Given the description of an element on the screen output the (x, y) to click on. 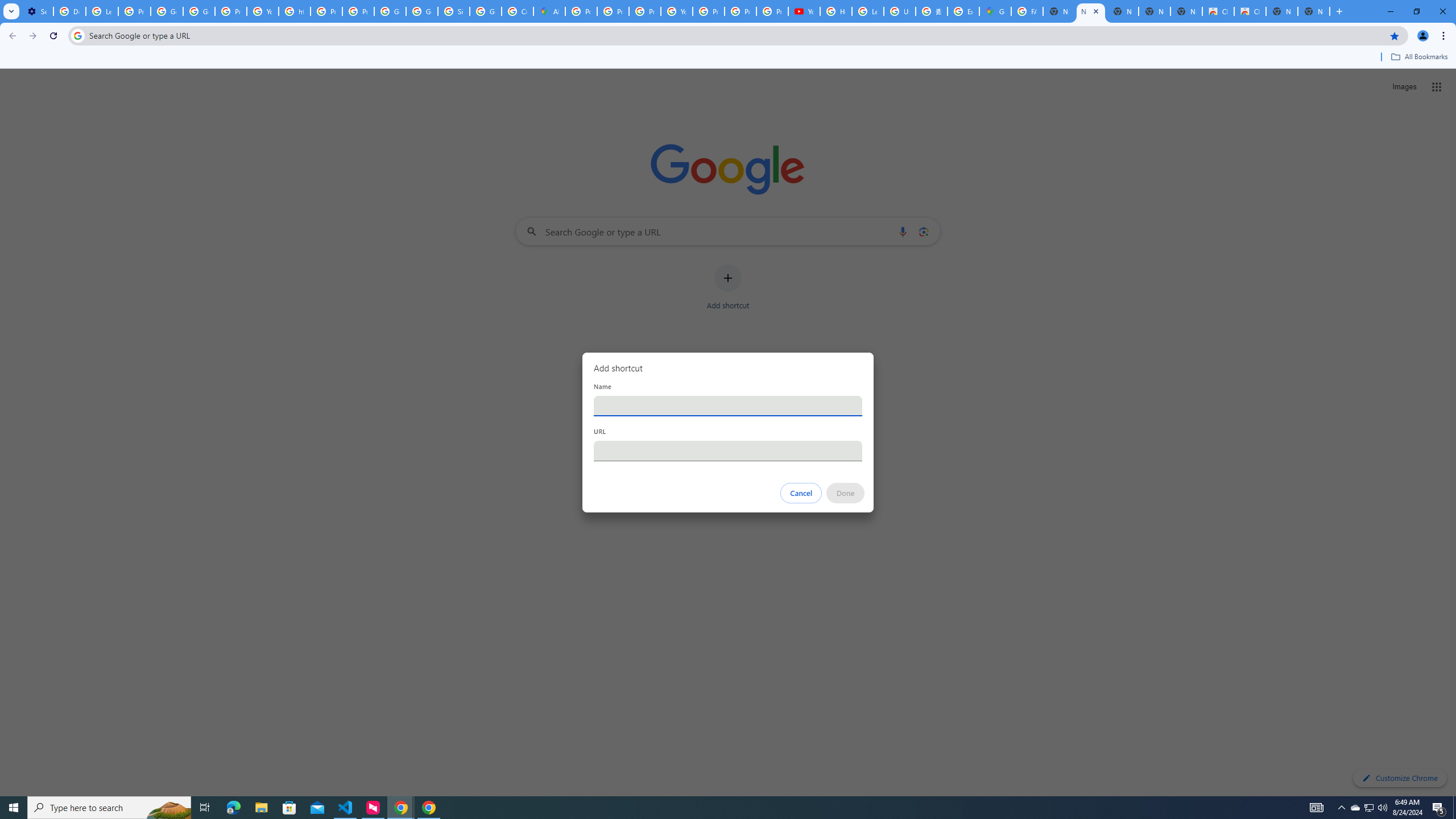
Privacy Checkup (740, 11)
Google Account Help (166, 11)
Classic Blue - Chrome Web Store (1217, 11)
Settings - On startup (37, 11)
Bookmarks (728, 58)
New Tab (1313, 11)
How Chrome protects your passwords - Google Chrome Help (836, 11)
Explore new street-level details - Google Maps Help (963, 11)
Google Maps (995, 11)
